Given the description of an element on the screen output the (x, y) to click on. 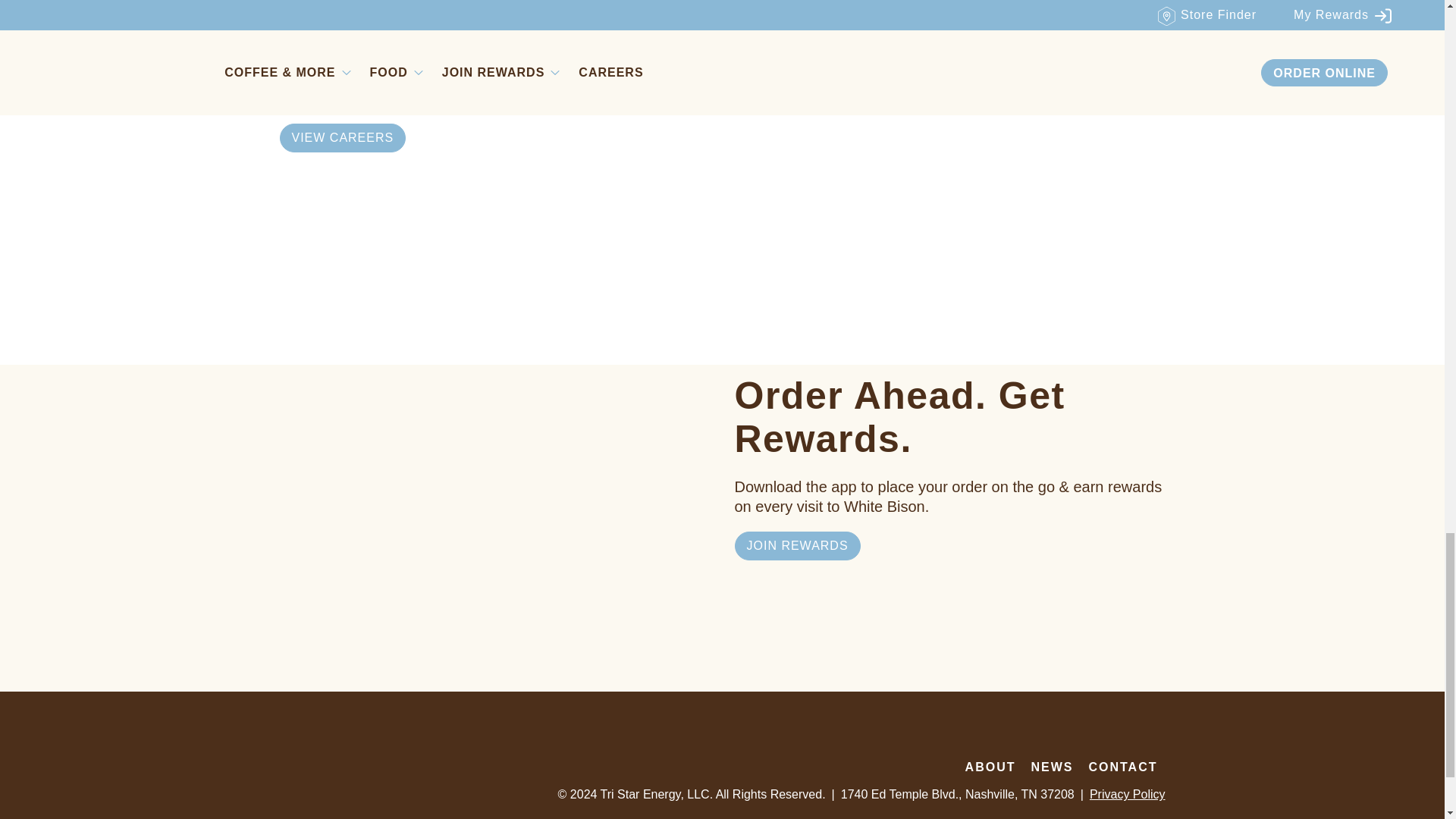
VIEW CAREERS (342, 137)
Social Media - opens in a new window (1108, 738)
NEWS (1051, 766)
Social Media - opens in a new window (1154, 738)
JOIN REWARDS (796, 545)
Social Media - opens in a new window (1131, 738)
ABOUT (990, 766)
Privacy Policy (1127, 794)
CONTACT (1122, 766)
